Given the description of an element on the screen output the (x, y) to click on. 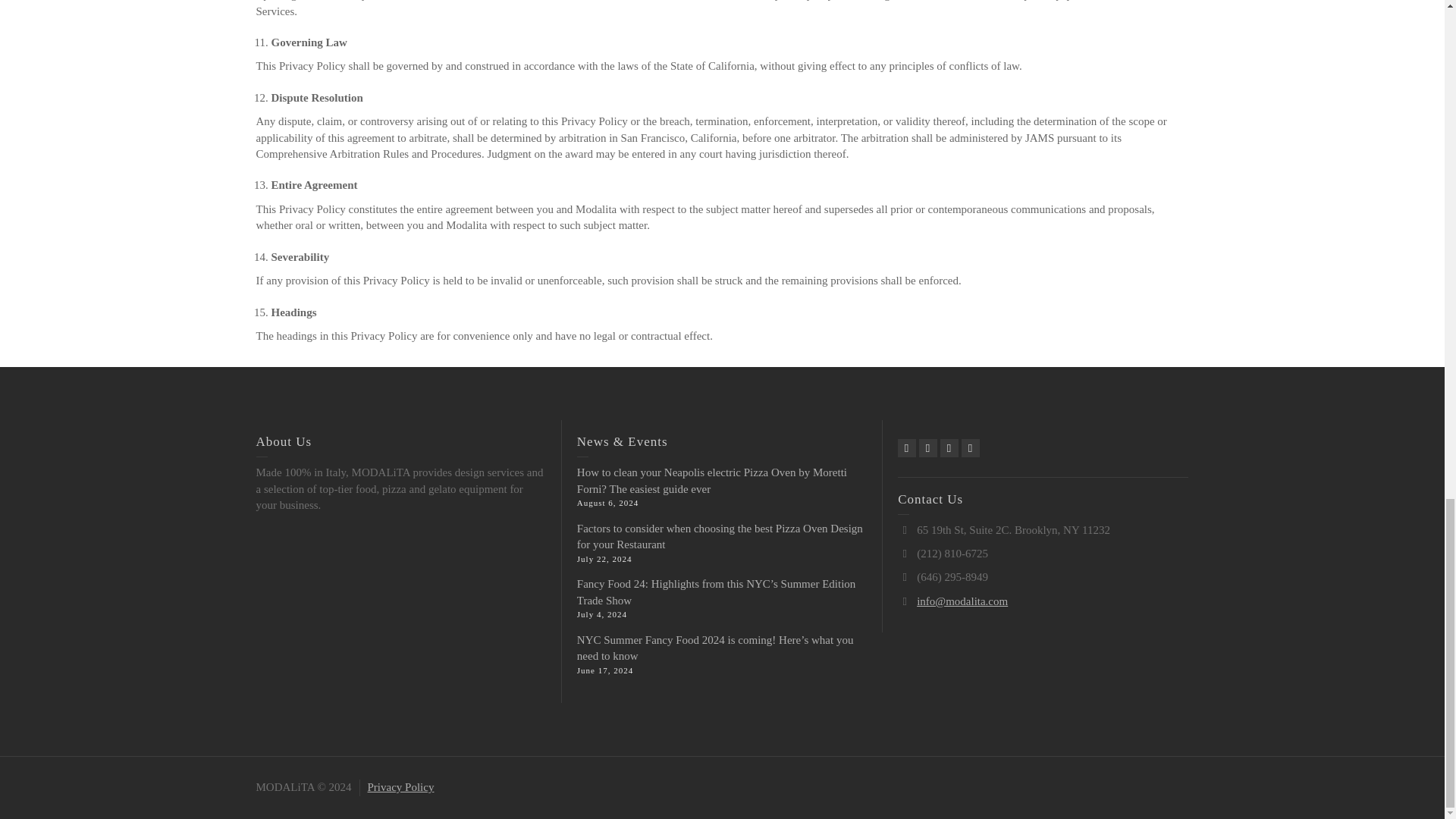
Privacy Policy (400, 787)
Linkedin (949, 447)
Instagram (969, 447)
Twitter (906, 447)
Facebook (927, 447)
